Given the description of an element on the screen output the (x, y) to click on. 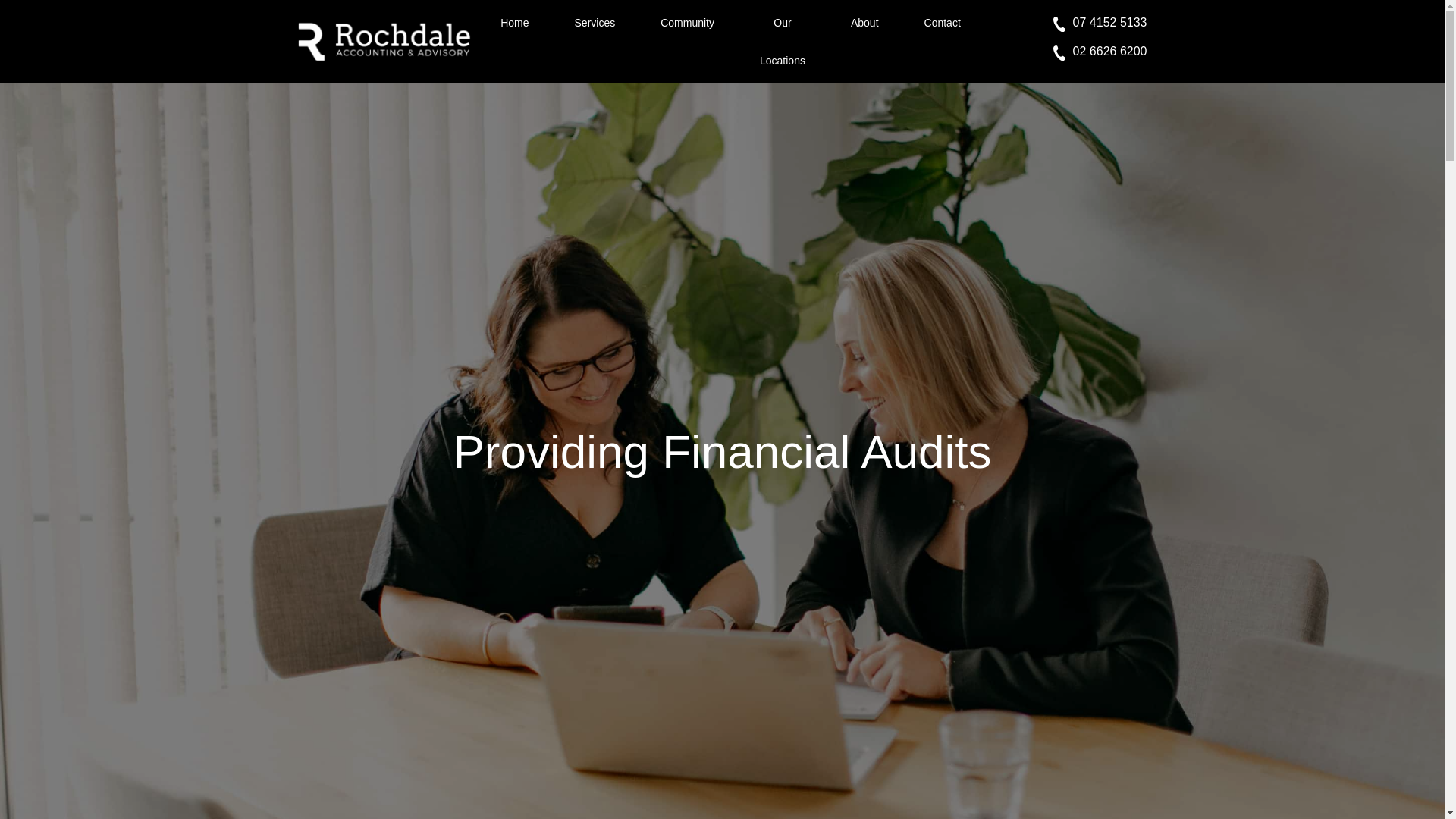
02 6626 6200 (1099, 54)
Home (514, 22)
Our Locations (782, 41)
07 4152 5133 (1099, 25)
Services (595, 22)
Community (686, 22)
Contact (942, 22)
About (864, 22)
